Given the description of an element on the screen output the (x, y) to click on. 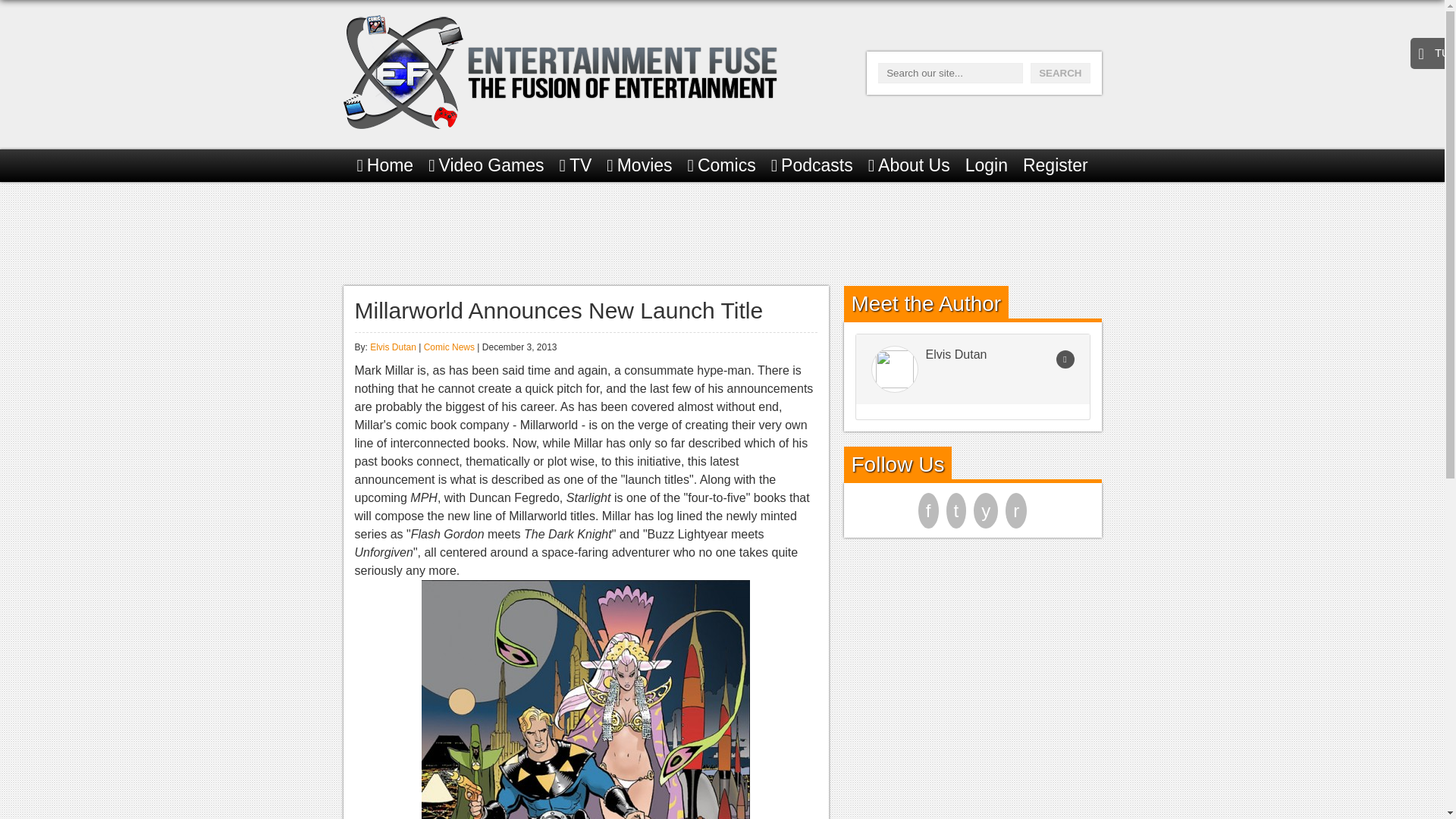
Posts by Elvis Dutan (392, 347)
Search (1059, 73)
Search (1059, 73)
TV (575, 165)
Home (384, 165)
Send E-mail (1064, 359)
Comics (721, 165)
Movies (639, 165)
Video Games (485, 165)
